Given the description of an element on the screen output the (x, y) to click on. 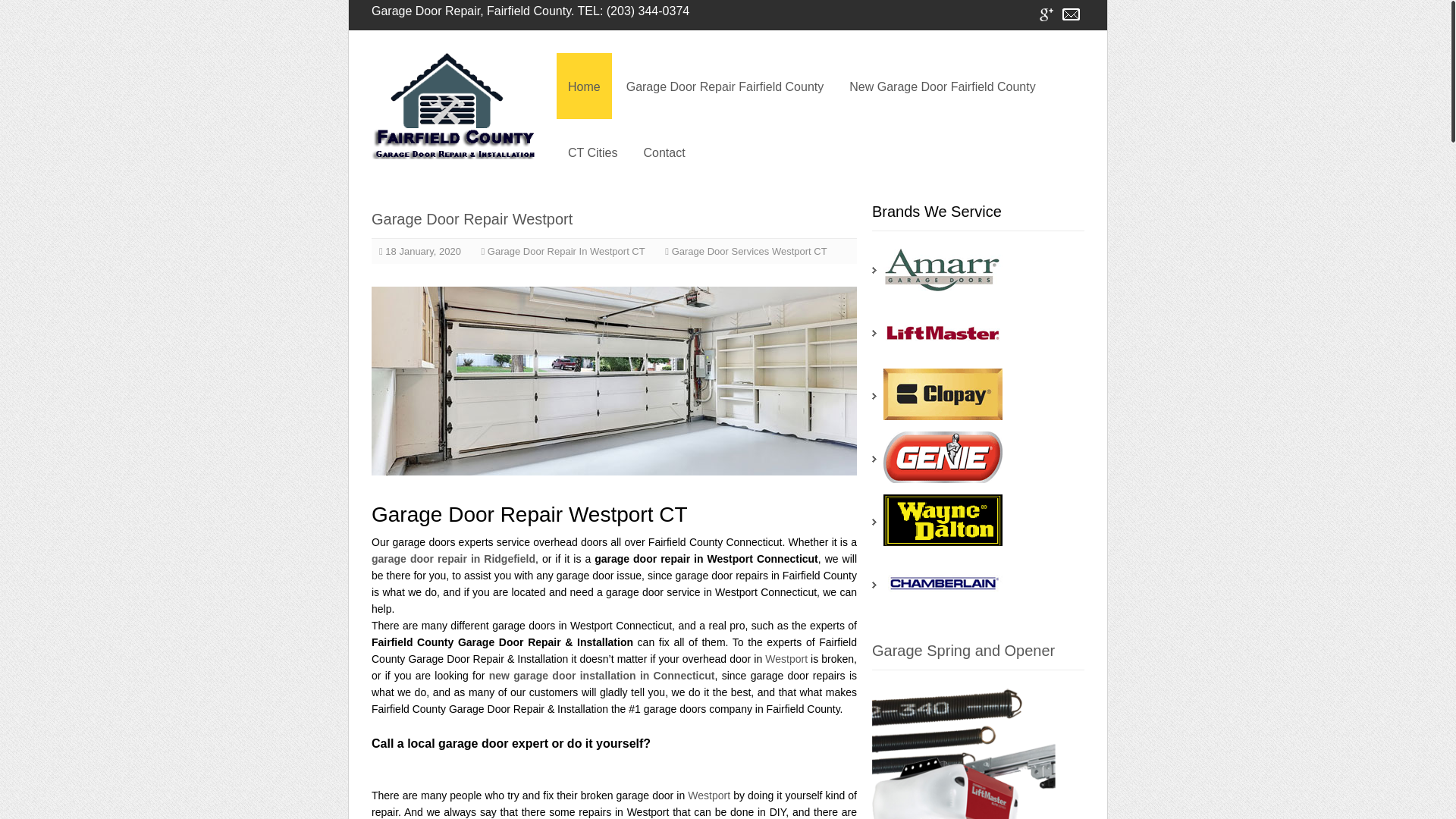
Westport (708, 795)
garage door repair in Ridgefield (453, 558)
CT Cities (592, 151)
Garage Door Services Westport CT (749, 251)
new garage door installation in Connecticut (601, 675)
Contact (664, 151)
New Garage Door Fairfield County (942, 85)
spring-opener (978, 748)
Contact (1071, 14)
Westport (786, 658)
Garage Door Repair Fairfield County (724, 85)
Garage Door Repair Westport (471, 218)
